Given the description of an element on the screen output the (x, y) to click on. 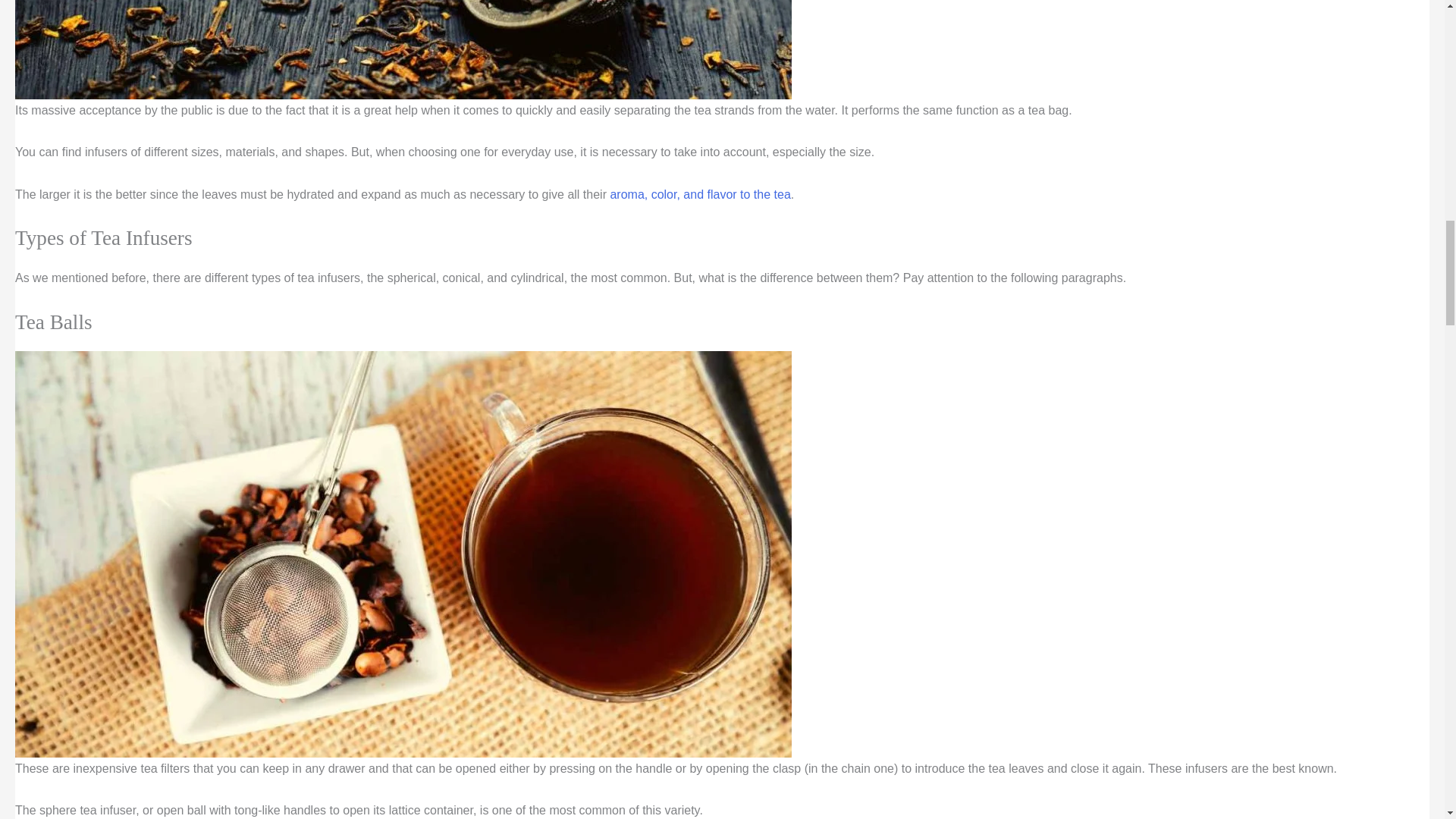
aroma, color, and flavor to the tea (700, 194)
